Given the description of an element on the screen output the (x, y) to click on. 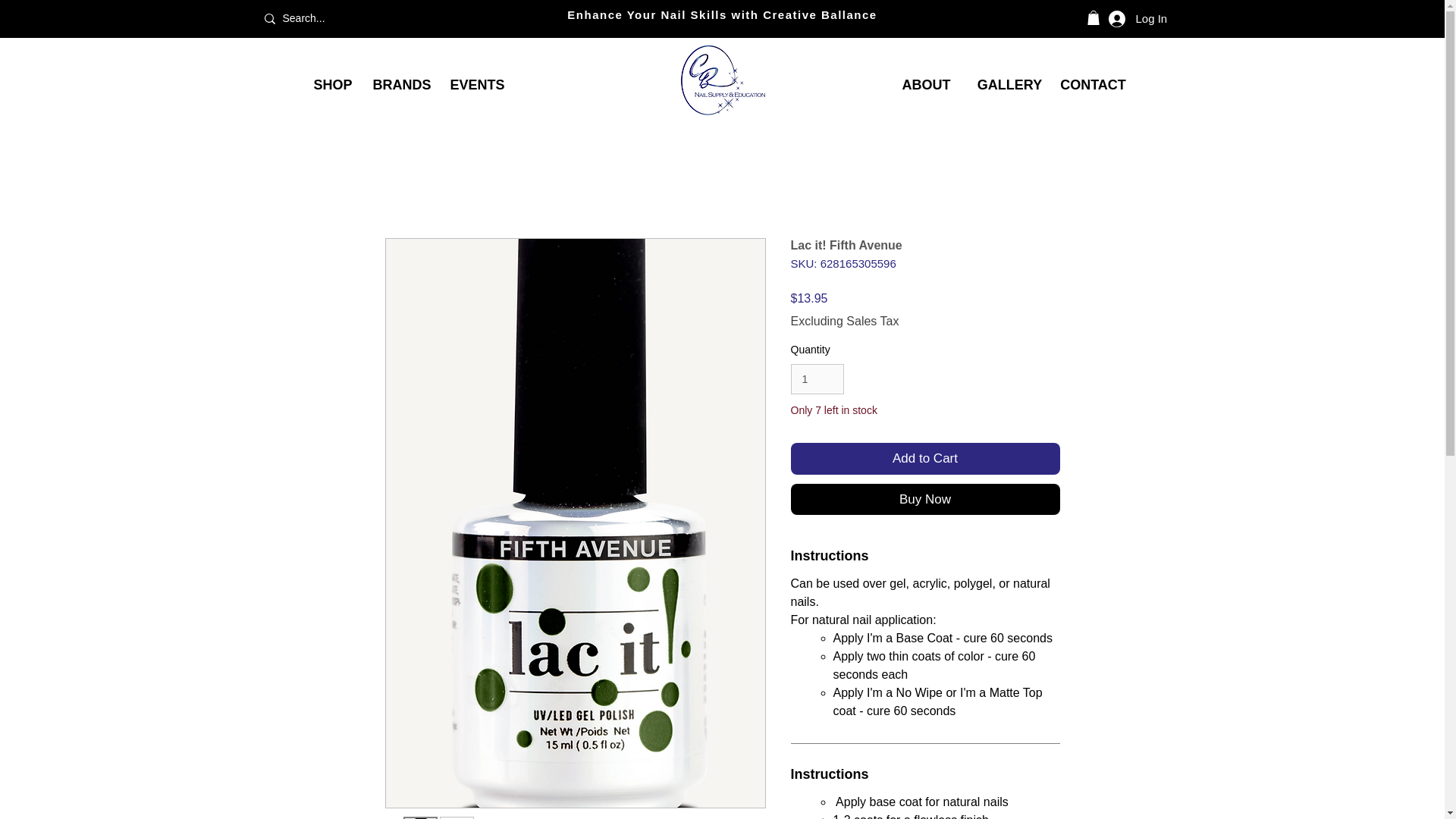
SHOP (331, 85)
Log In (1137, 18)
GALLERY (1009, 84)
CONTACT (1092, 84)
1 (817, 378)
ABOUT (925, 84)
Buy Now (924, 499)
Add to Cart (924, 459)
